Given the description of an element on the screen output the (x, y) to click on. 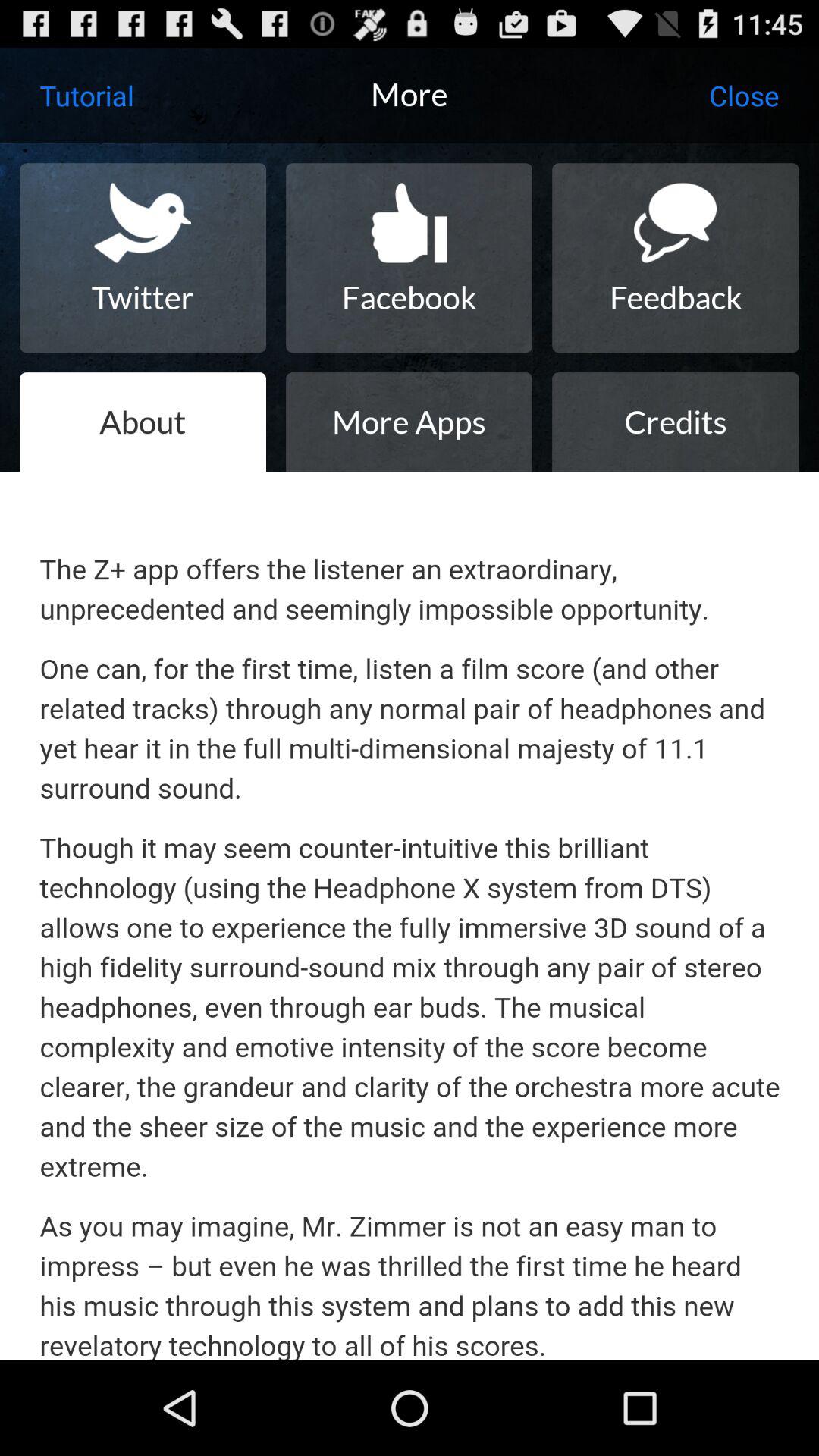
tap item next to the facebook (142, 257)
